Given the description of an element on the screen output the (x, y) to click on. 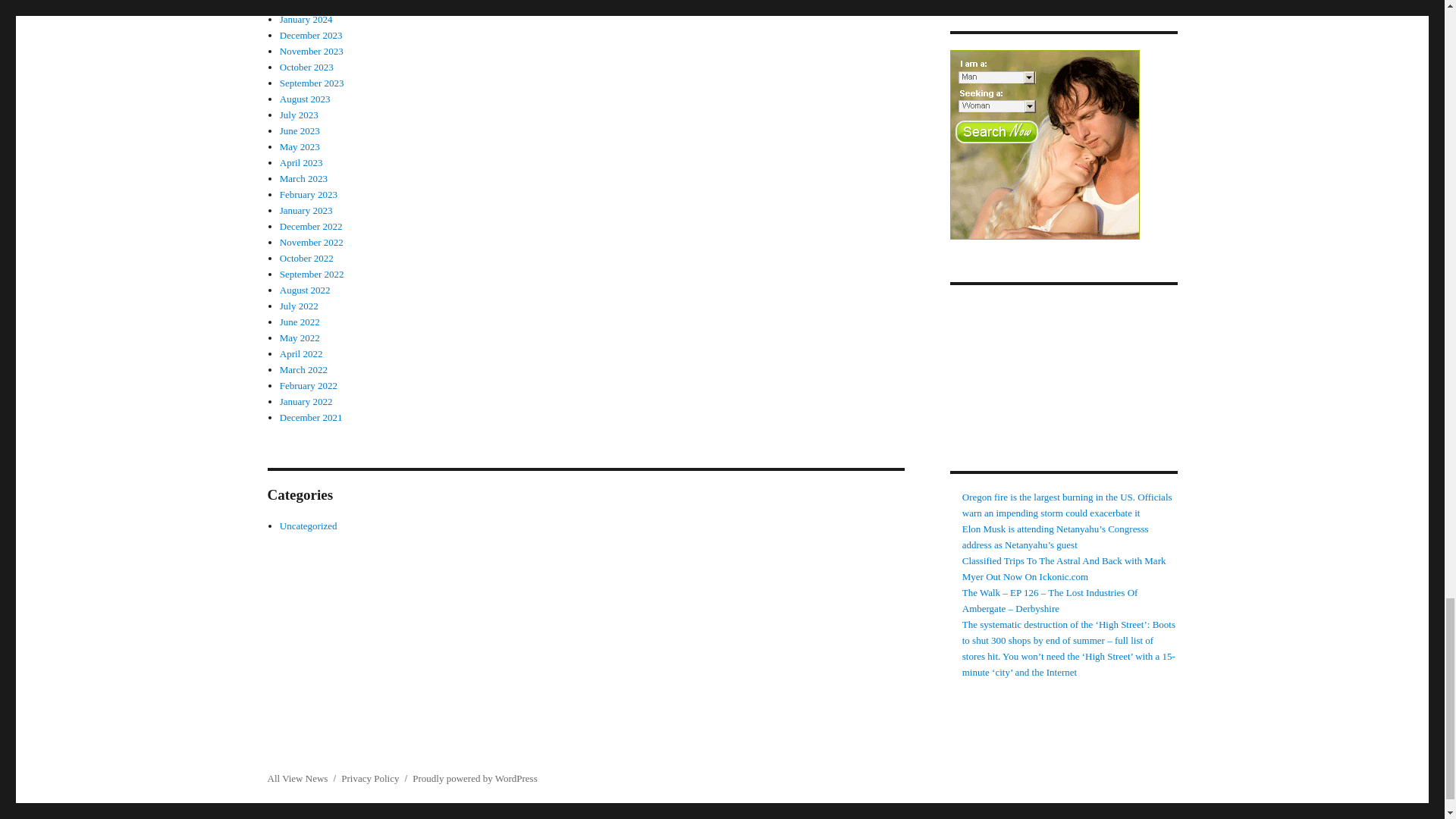
July 2022 (298, 306)
December 2023 (310, 34)
May 2022 (299, 337)
October 2022 (306, 257)
January 2022 (306, 401)
March 2023 (303, 178)
January 2024 (306, 19)
September 2022 (311, 274)
August 2023 (304, 98)
February 2023 (308, 194)
October 2023 (306, 66)
June 2023 (299, 130)
April 2023 (301, 162)
December 2022 (310, 225)
February 2024 (308, 4)
